Given the description of an element on the screen output the (x, y) to click on. 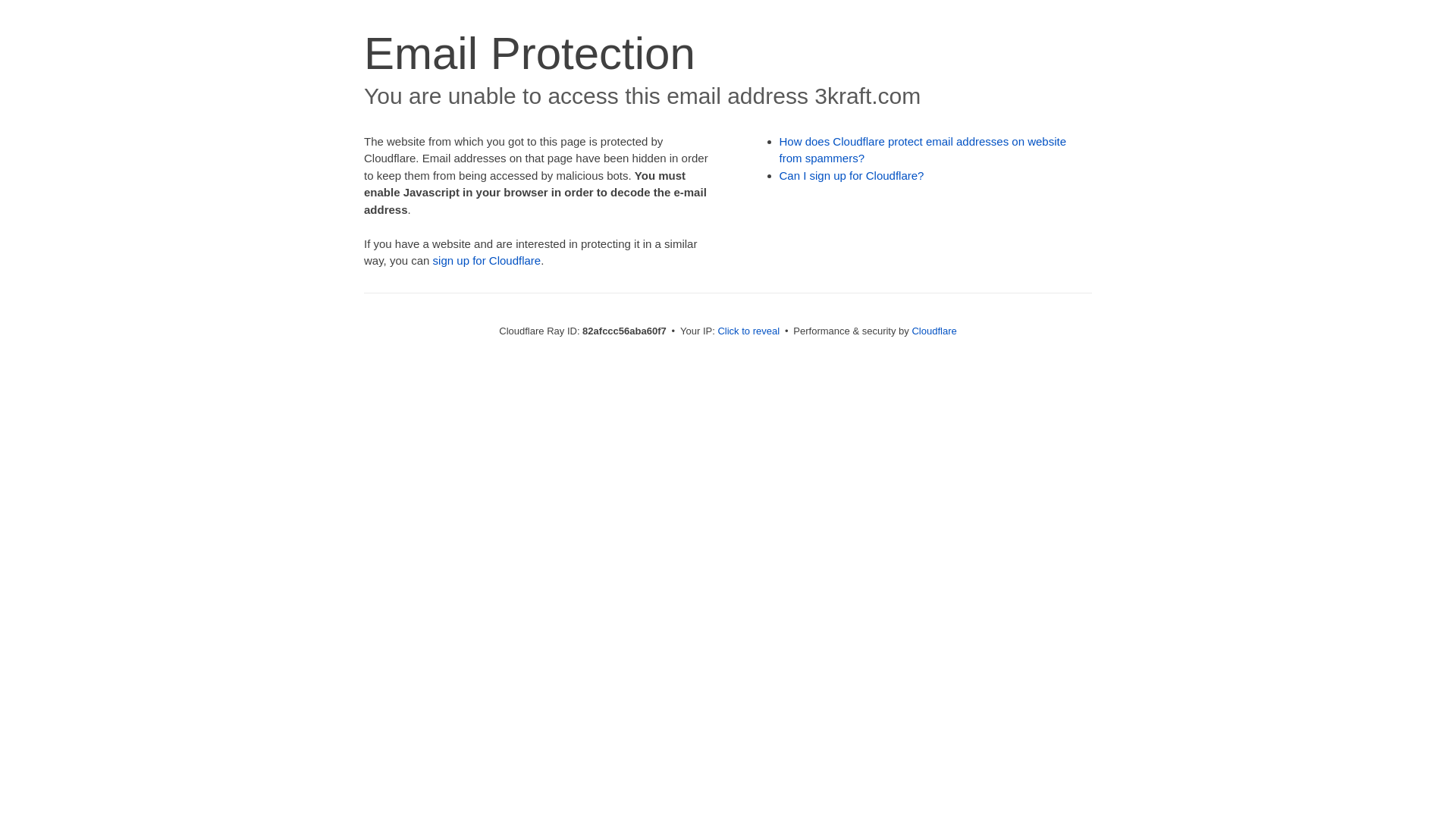
Can I sign up for Cloudflare? Element type: text (851, 175)
Click to reveal Element type: text (748, 330)
Cloudflare Element type: text (933, 330)
sign up for Cloudflare Element type: text (487, 260)
